Given the description of an element on the screen output the (x, y) to click on. 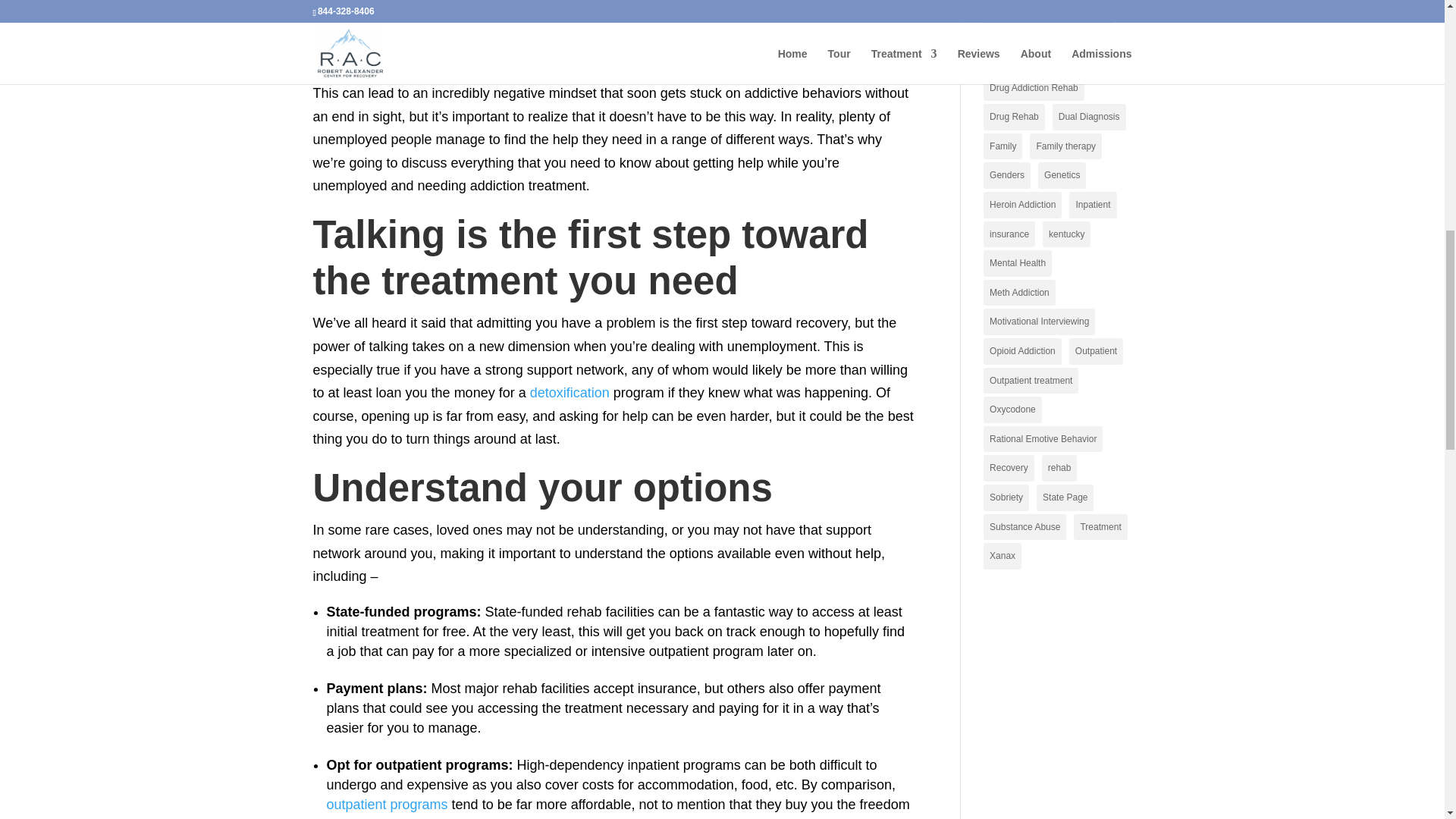
treatment (780, 32)
detoxification (569, 392)
outpatient programs (386, 804)
